Given the description of an element on the screen output the (x, y) to click on. 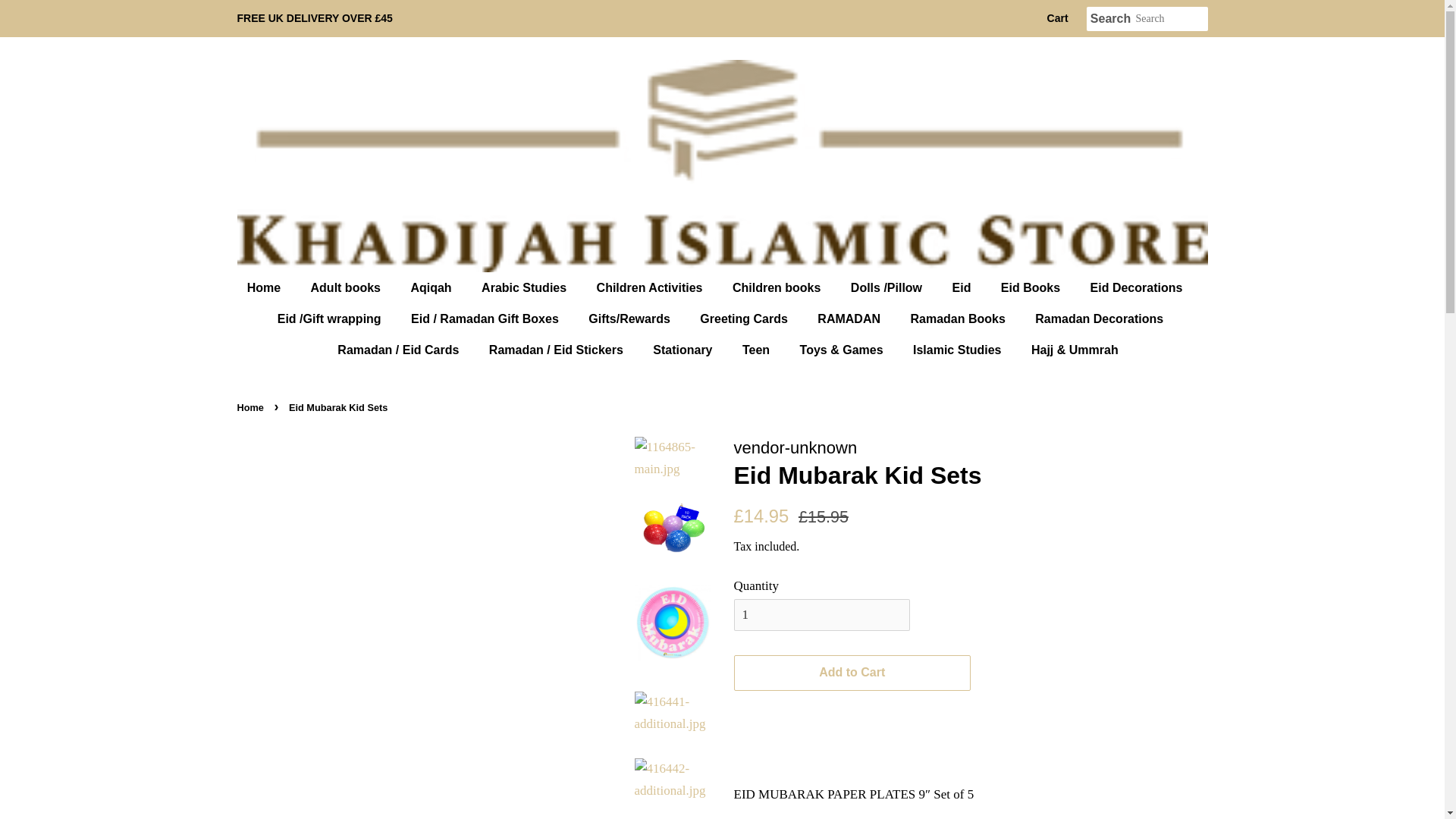
Cart (1057, 18)
Eid (963, 287)
Home (271, 287)
Arabic Studies (525, 287)
Adult books (347, 287)
Search (1110, 18)
1 (821, 614)
Children books (777, 287)
Aqiqah (431, 287)
Children Activities (651, 287)
